Given the description of an element on the screen output the (x, y) to click on. 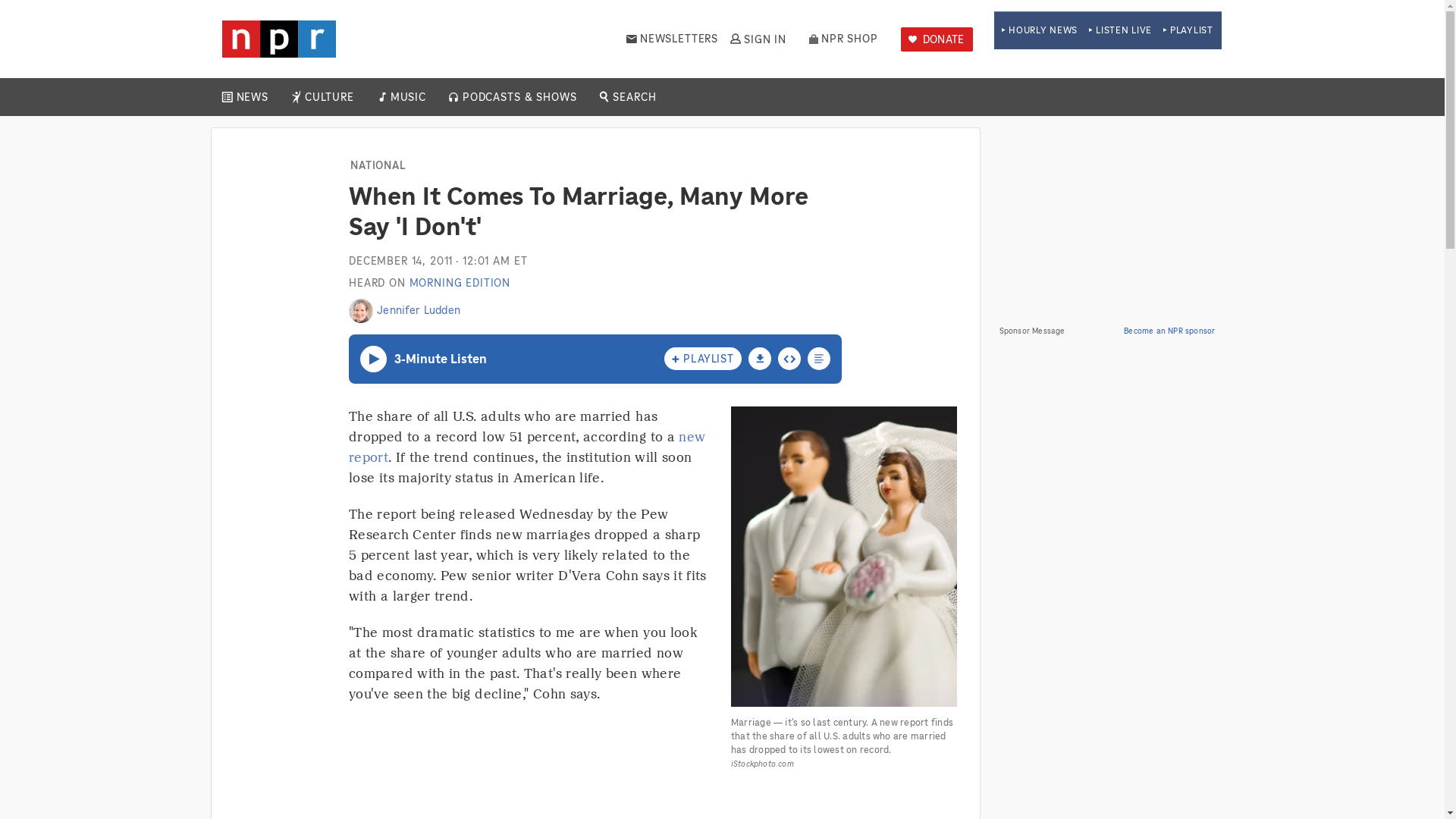
PLAYLIST (1187, 30)
CULTURE (328, 96)
HOURLY NEWS (1039, 30)
LISTEN LIVE (1120, 30)
NPR SHOP (843, 38)
MUSIC (407, 96)
DONATE (936, 39)
NEWS (251, 96)
NEWSLETTERS (671, 38)
SIGN IN (757, 38)
